Given the description of an element on the screen output the (x, y) to click on. 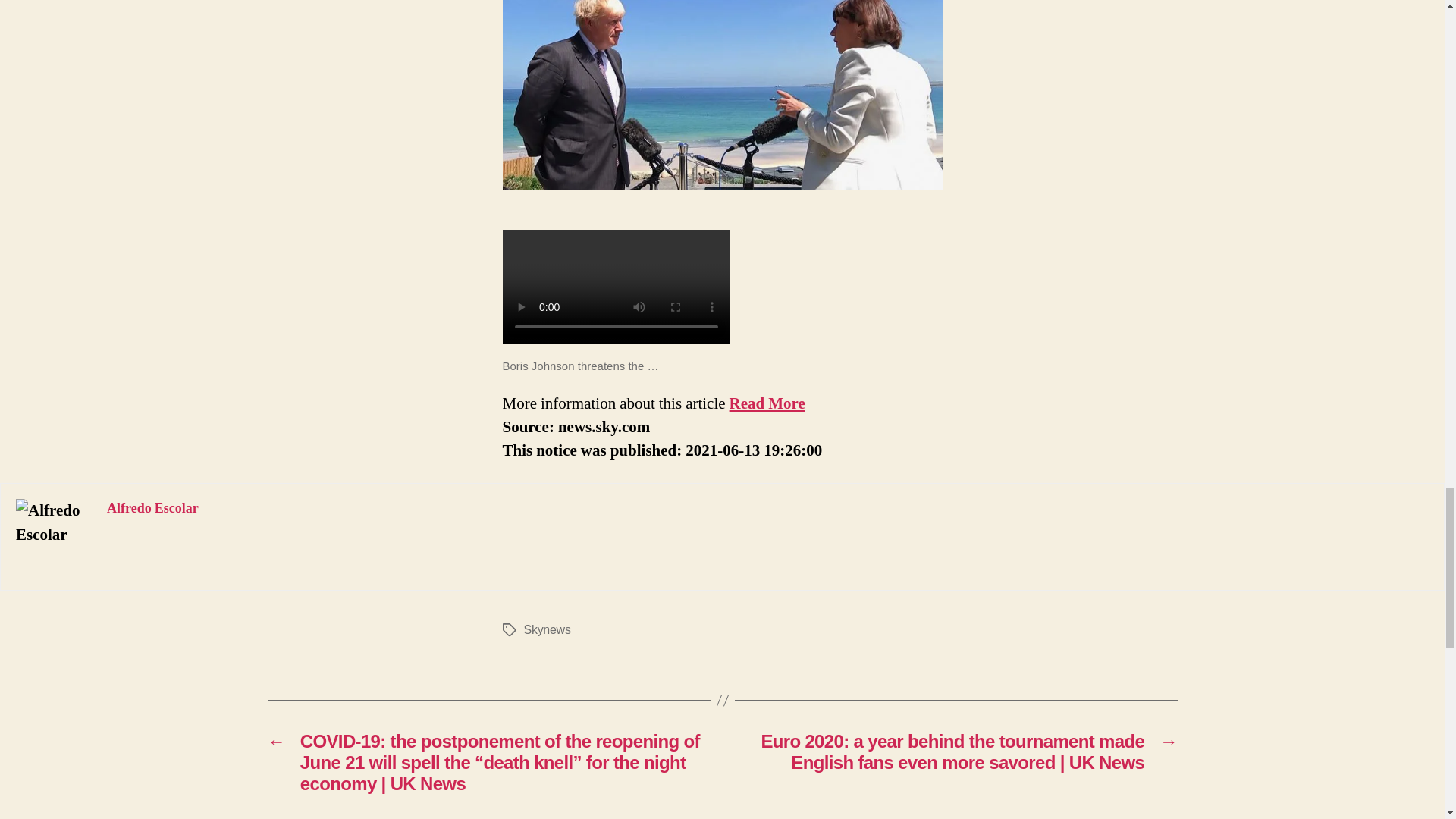
Alfredo Escolar (152, 507)
Read More (767, 403)
Skynews (546, 629)
